Given the description of an element on the screen output the (x, y) to click on. 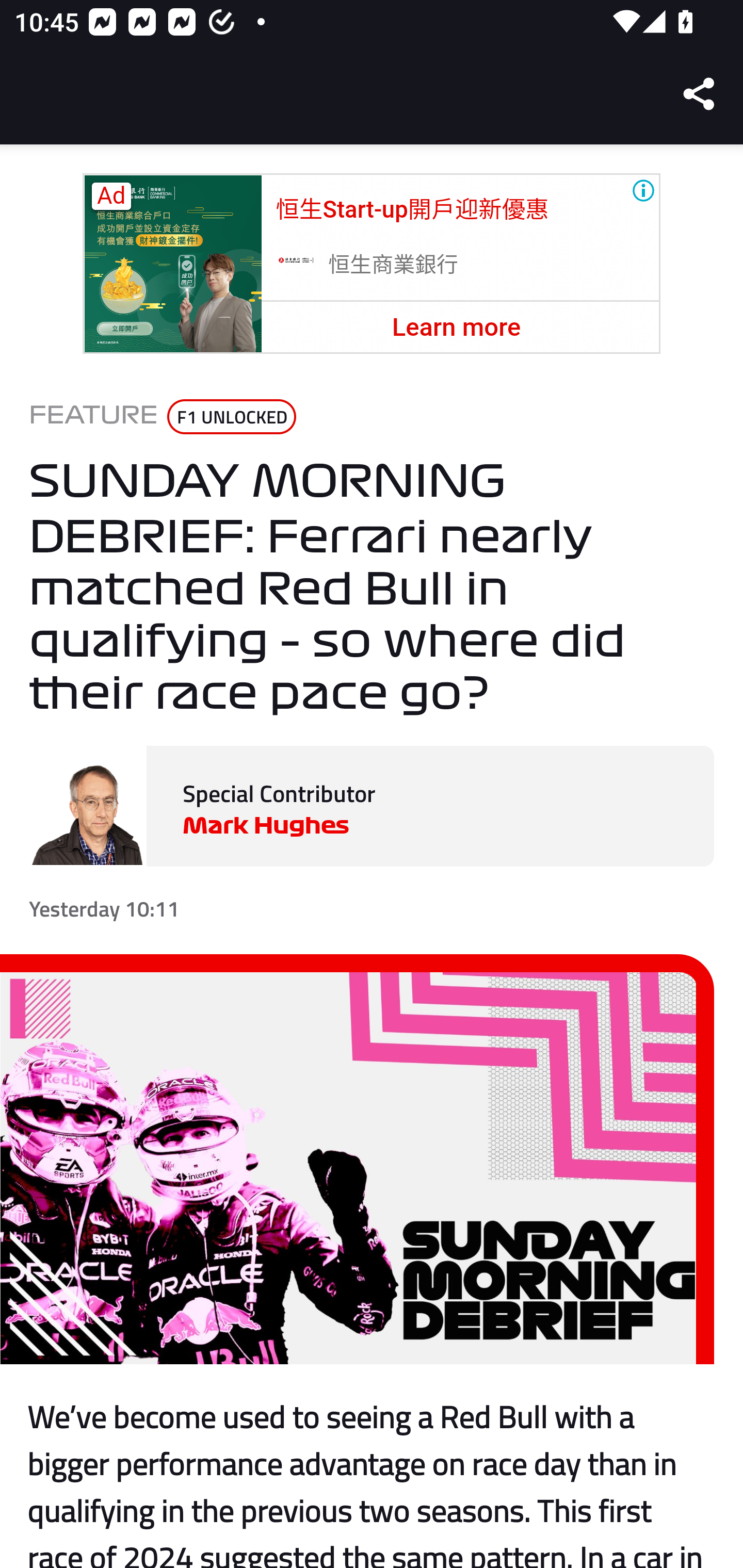
Share (699, 93)
index (172, 264)
恒生Start-up開戶迎新優惠 (411, 209)
index (295, 262)
恒生商業銀行 (393, 264)
Learn more (455, 327)
